Given the description of an element on the screen output the (x, y) to click on. 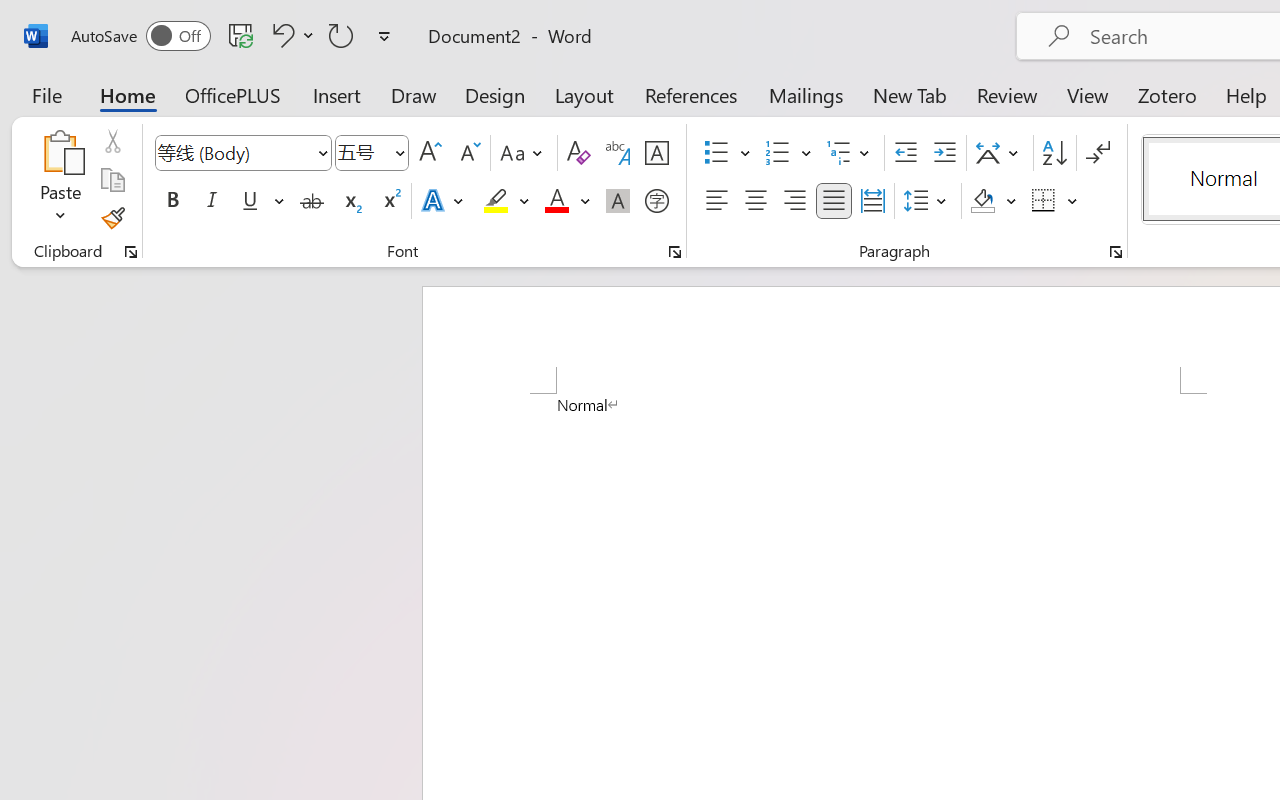
Reset to Cameo (474, 114)
Screen Recording (290, 114)
Audio (341, 114)
From Current Slide... (224, 114)
